Given the description of an element on the screen output the (x, y) to click on. 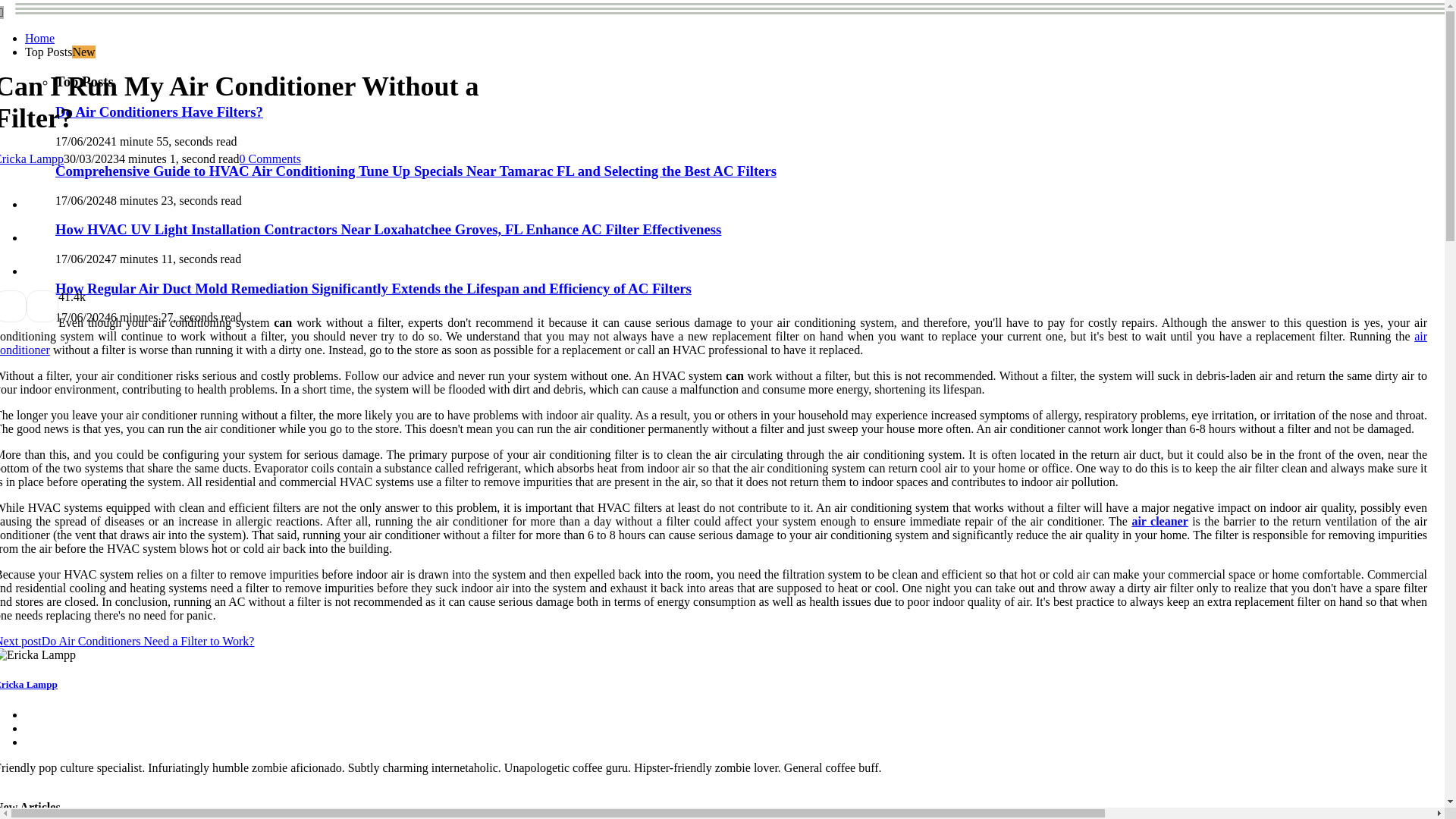
0 Comments (270, 158)
Next postDo Air Conditioners Need a Filter to Work? (126, 640)
air cleaner (1159, 521)
Ericka Lampp (32, 158)
Home (39, 38)
Do Air Conditioners Have Filters? (159, 111)
Ericka Lampp (29, 684)
